Given the description of an element on the screen output the (x, y) to click on. 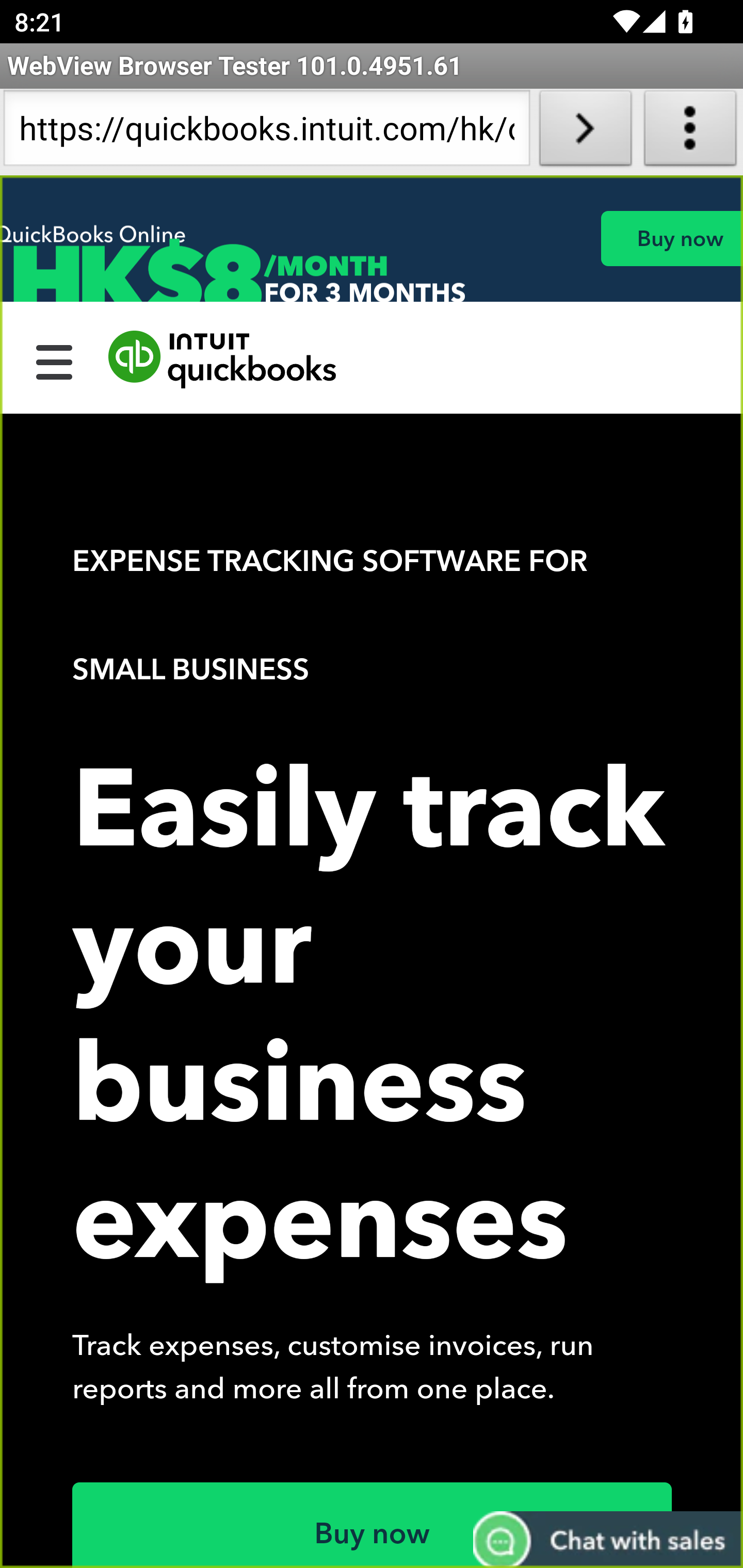
Load URL (585, 132)
About WebView (690, 132)
Buy now (671, 238)
quickbooks-mobile-burger (54, 359)
quickbooks (222, 359)
Buy now (372, 1524)
